Given the description of an element on the screen output the (x, y) to click on. 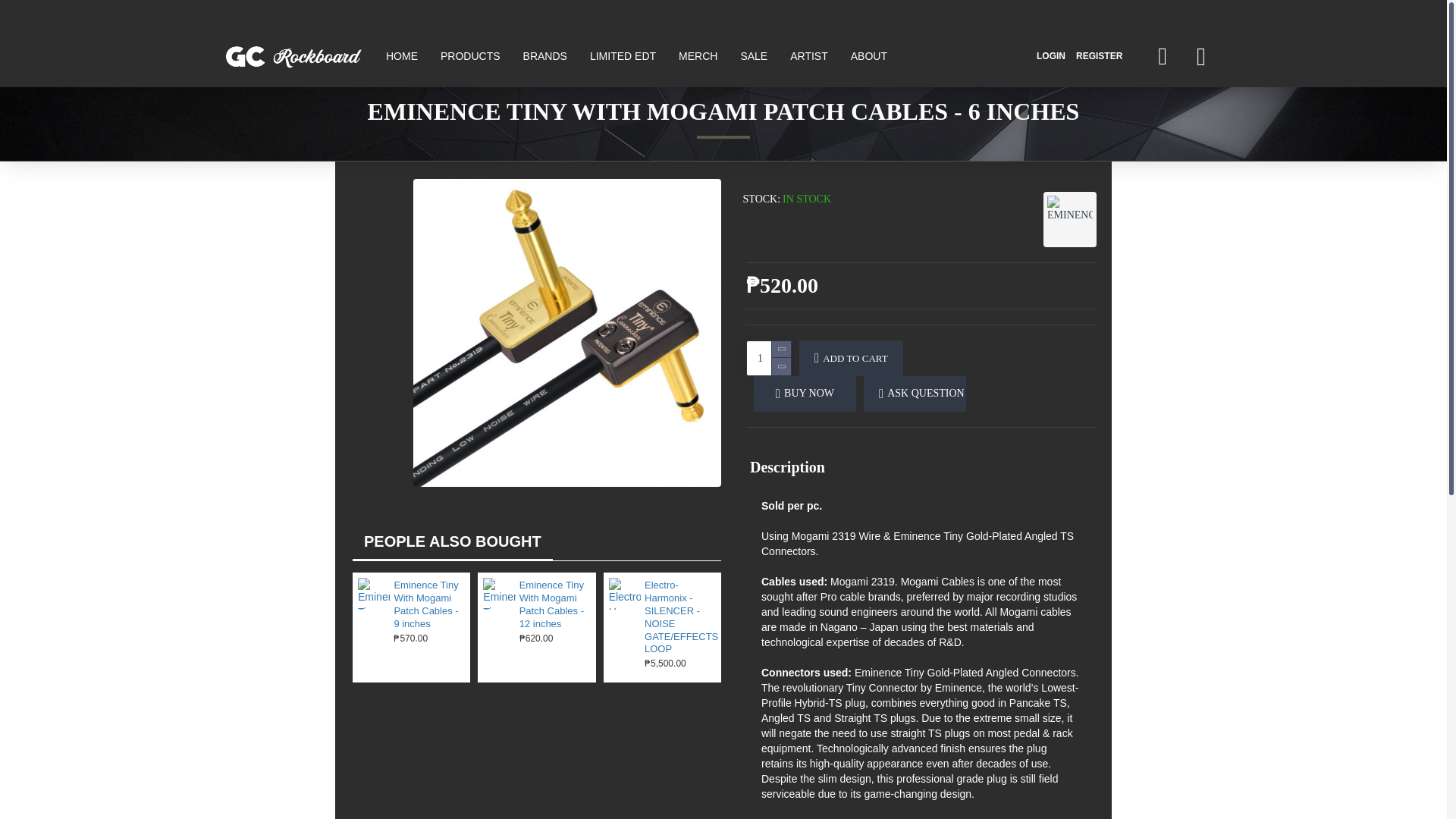
Eminence Tiny With Mogami Patch Cables - 6 inches (566, 332)
1 (768, 358)
Eminence Tiny With Mogami Patch Cables - 9 inches (374, 593)
HOME (401, 56)
PRODUCTS (470, 56)
GC Rockboard (293, 56)
